Given the description of an element on the screen output the (x, y) to click on. 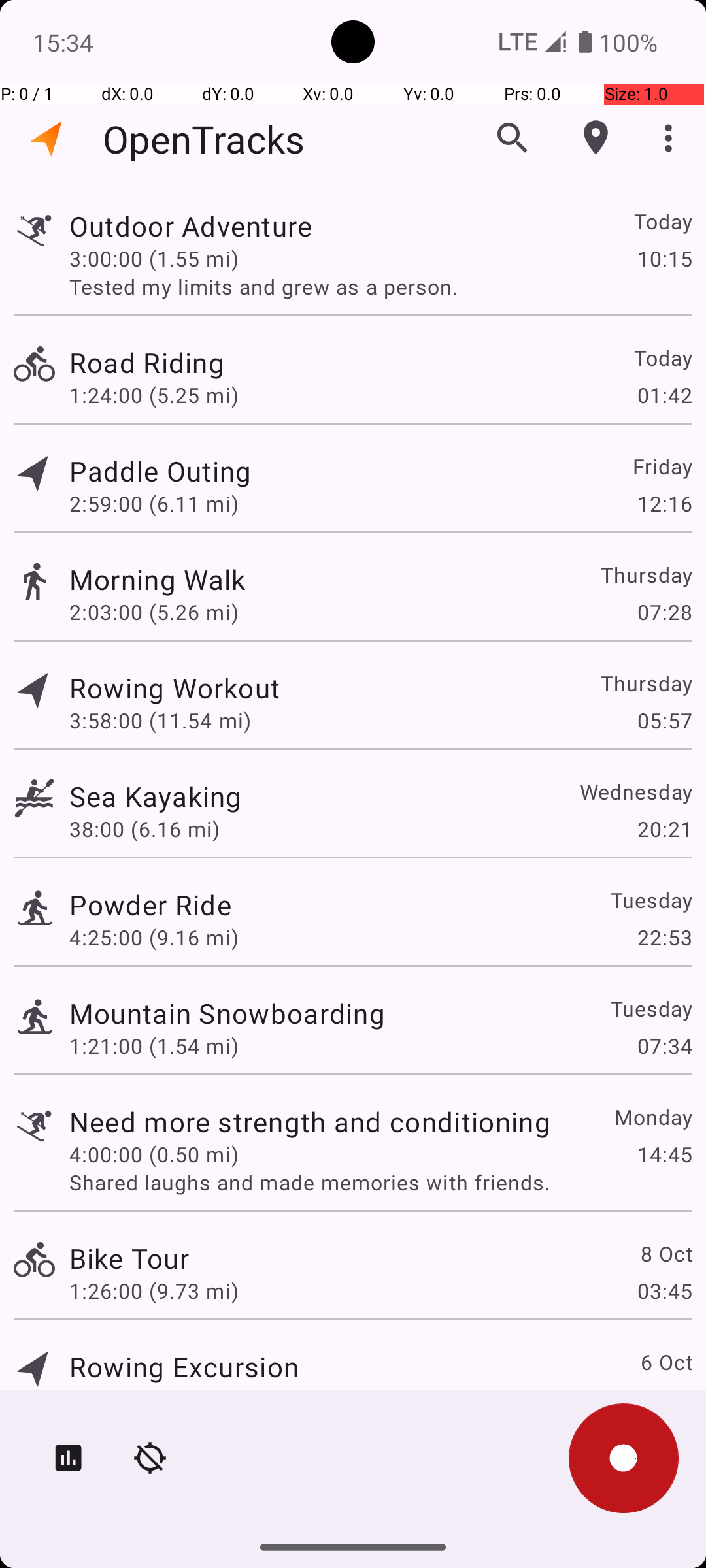
Outdoor Adventure Element type: android.widget.TextView (190, 225)
3:00:00 (1.55 mi) Element type: android.widget.TextView (153, 258)
10:15 Element type: android.widget.TextView (664, 258)
Tested my limits and grew as a person. Element type: android.widget.TextView (380, 286)
Road Riding Element type: android.widget.TextView (146, 361)
1:24:00 (5.25 mi) Element type: android.widget.TextView (153, 394)
01:42 Element type: android.widget.TextView (664, 394)
Paddle Outing Element type: android.widget.TextView (159, 470)
2:59:00 (6.11 mi) Element type: android.widget.TextView (153, 503)
12:16 Element type: android.widget.TextView (664, 503)
Morning Walk Element type: android.widget.TextView (157, 578)
2:03:00 (5.26 mi) Element type: android.widget.TextView (153, 611)
07:28 Element type: android.widget.TextView (664, 611)
Rowing Workout Element type: android.widget.TextView (174, 687)
3:58:00 (11.54 mi) Element type: android.widget.TextView (159, 720)
05:57 Element type: android.widget.TextView (664, 720)
Sea Kayaking Element type: android.widget.TextView (155, 795)
38:00 (6.16 mi) Element type: android.widget.TextView (144, 828)
20:21 Element type: android.widget.TextView (664, 828)
Powder Ride Element type: android.widget.TextView (150, 904)
4:25:00 (9.16 mi) Element type: android.widget.TextView (153, 937)
22:53 Element type: android.widget.TextView (664, 937)
Mountain Snowboarding Element type: android.widget.TextView (226, 1012)
1:21:00 (1.54 mi) Element type: android.widget.TextView (153, 1045)
07:34 Element type: android.widget.TextView (664, 1045)
Need more strength and conditioning Element type: android.widget.TextView (309, 1121)
4:00:00 (0.50 mi) Element type: android.widget.TextView (153, 1154)
14:45 Element type: android.widget.TextView (664, 1154)
Shared laughs and made memories with friends. Element type: android.widget.TextView (380, 1182)
Bike Tour Element type: android.widget.TextView (128, 1257)
1:26:00 (9.73 mi) Element type: android.widget.TextView (153, 1290)
03:45 Element type: android.widget.TextView (664, 1290)
Rowing Excursion Element type: android.widget.TextView (183, 1366)
6 Oct Element type: android.widget.TextView (665, 1361)
4:18:00 (2.23 mi) Element type: android.widget.TextView (153, 1399)
09:02 Element type: android.widget.TextView (664, 1399)
